Given the description of an element on the screen output the (x, y) to click on. 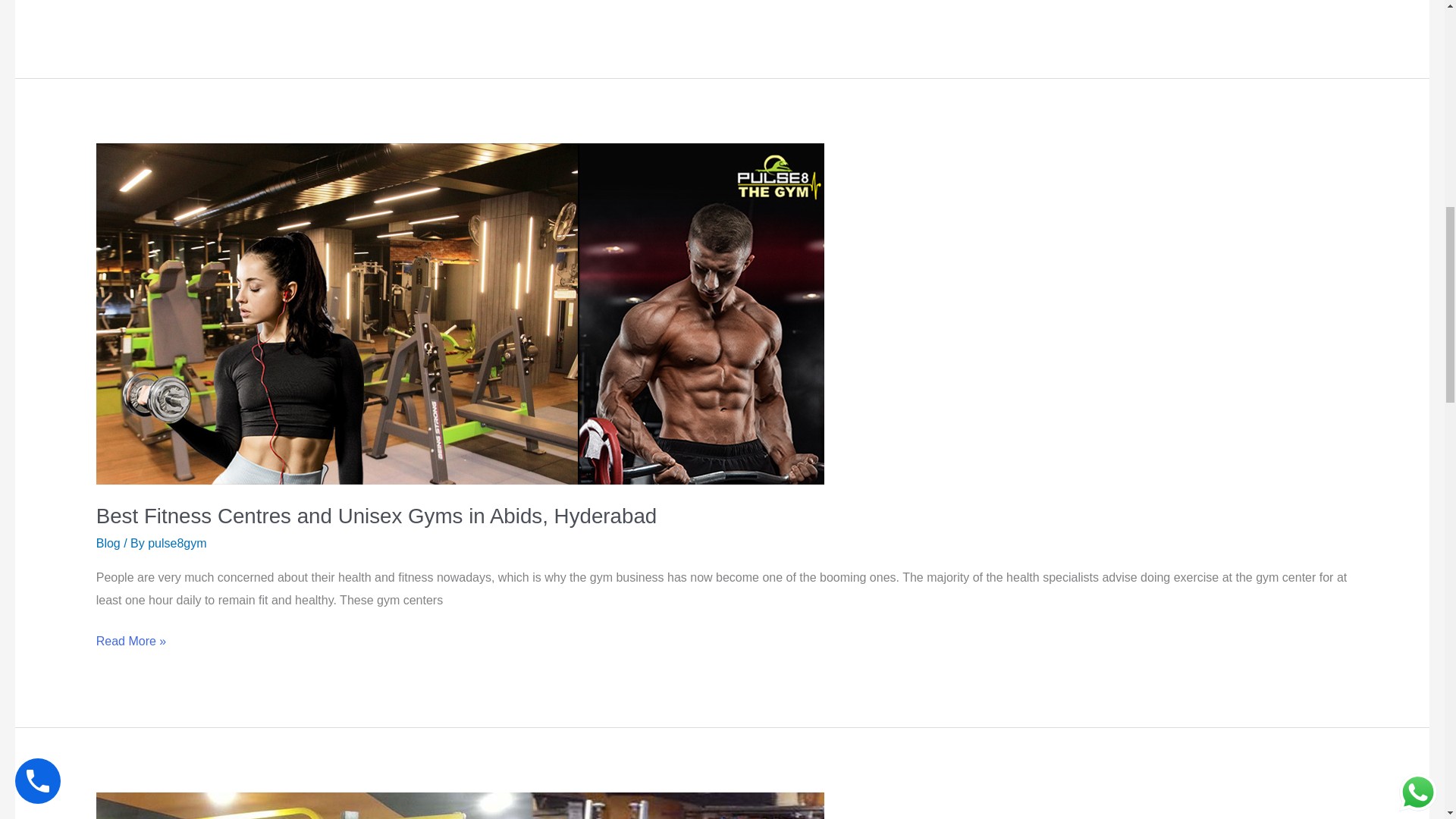
Best Fitness Centres and Unisex Gyms in Abids, Hyderabad (377, 515)
pulse8gym (177, 543)
View all posts by pulse8gym (177, 543)
Blog (108, 543)
